Given the description of an element on the screen output the (x, y) to click on. 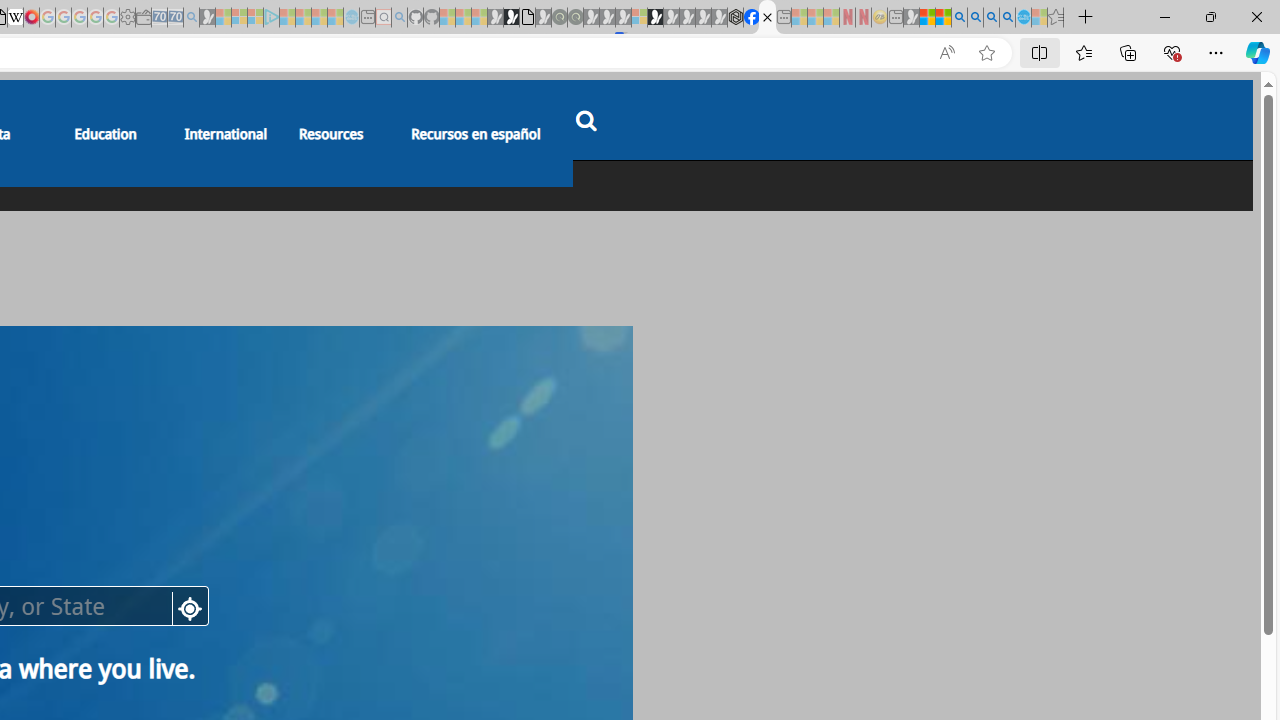
Sign in to your account - Sleeping (639, 17)
Future Focus Report 2024 - Sleeping (575, 17)
